Given the description of an element on the screen output the (x, y) to click on. 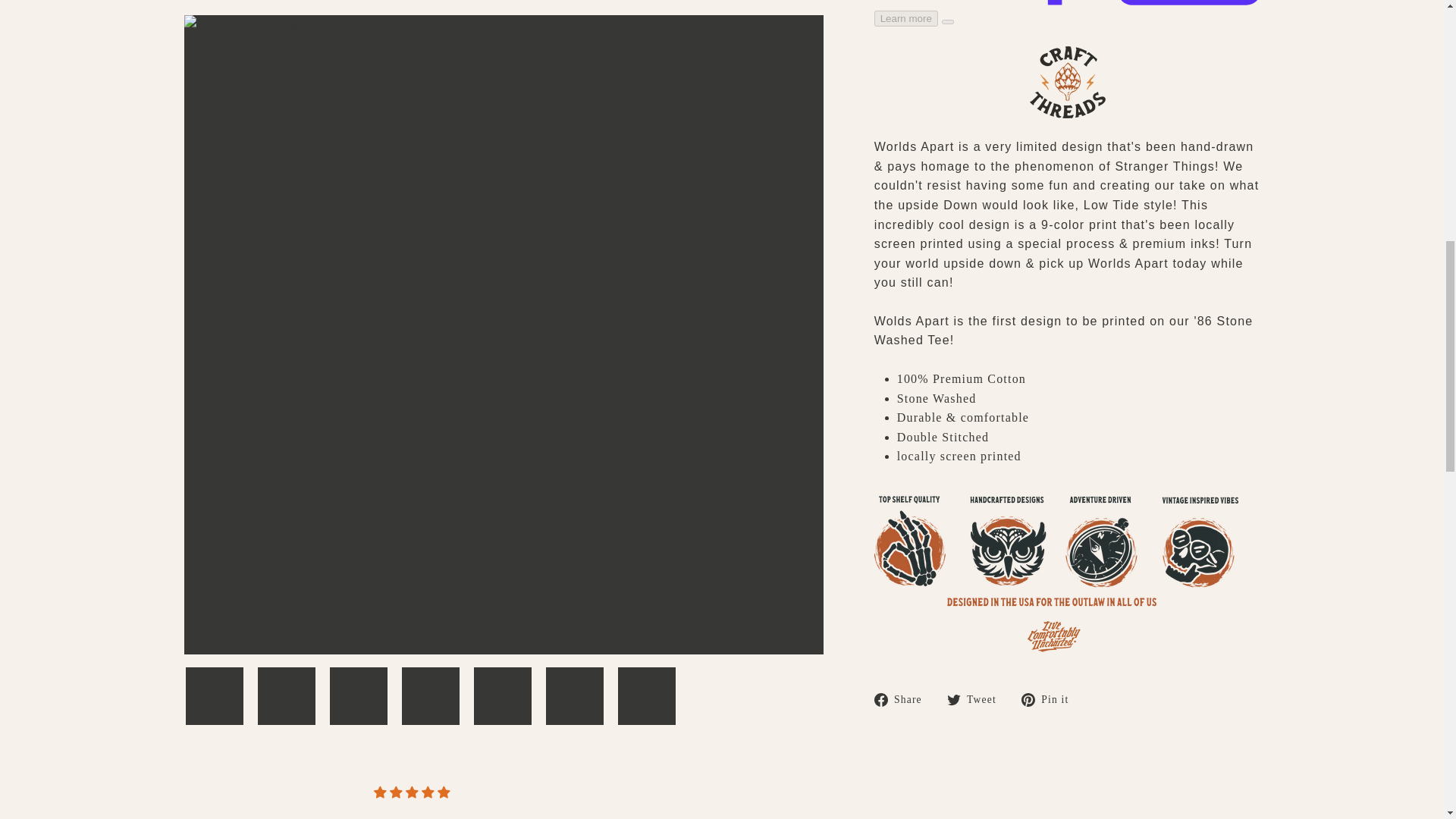
Tweet on Twitter (977, 699)
Share on Facebook (904, 699)
Pin on Pinterest (1051, 699)
